Given the description of an element on the screen output the (x, y) to click on. 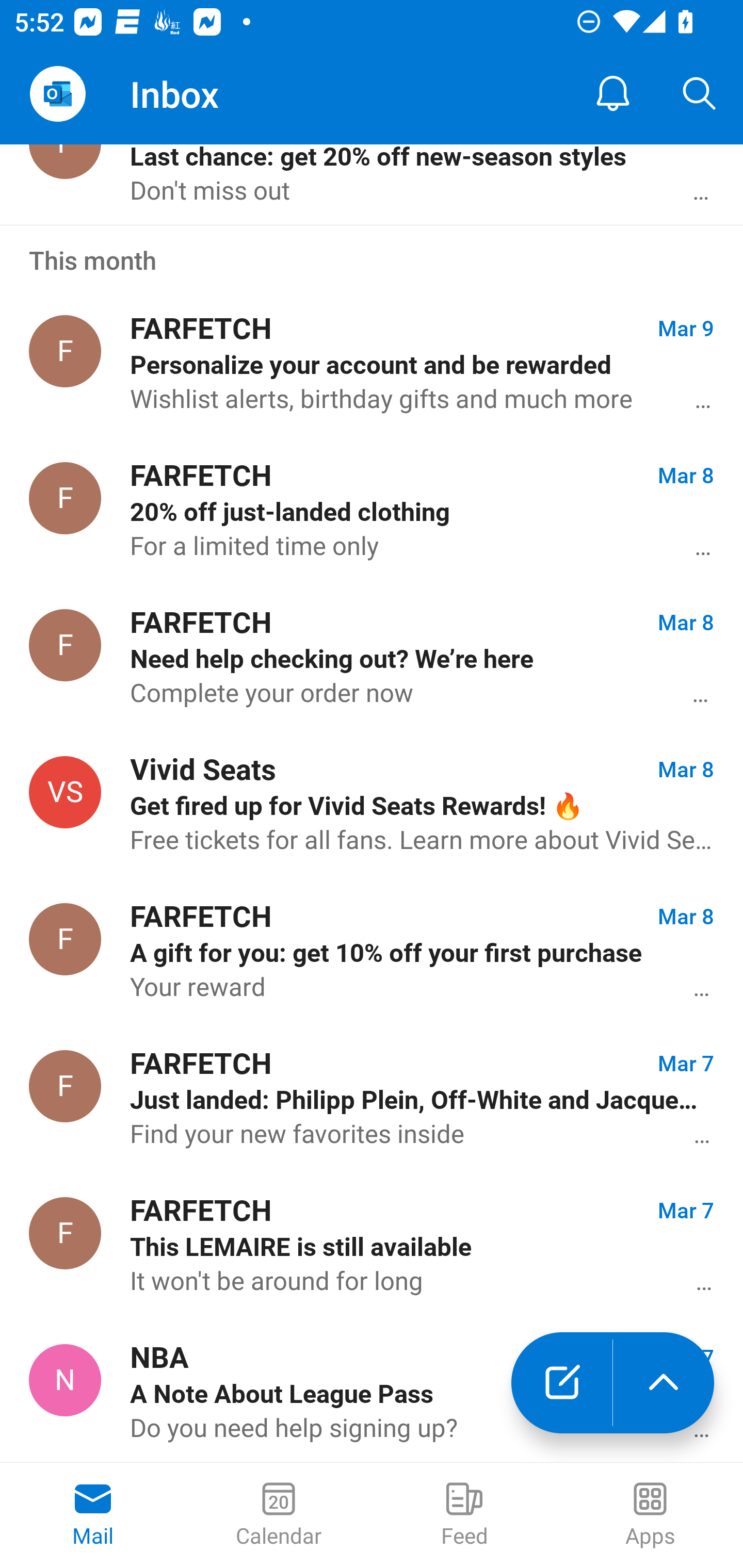
Notification Center (612, 93)
Search, ,  (699, 93)
Open Navigation Drawer (57, 94)
FARFETCH, farfetch@email.farfetch.com (64, 351)
FARFETCH, farfetch@email.farfetch.com (64, 498)
FARFETCH, farfetch@email.farfetch.com (64, 645)
Vivid Seats, tickets@live.vividseats.com (64, 791)
FARFETCH, farfetch@email.farfetch.com (64, 939)
FARFETCH, farfetch@email.farfetch.com (64, 1086)
FARFETCH, farfetch@email.farfetch.com (64, 1233)
New mail (561, 1382)
launch the extended action menu (663, 1382)
NBA, NBA@email.nba.com (64, 1379)
Calendar (278, 1515)
Feed (464, 1515)
Apps (650, 1515)
